Given the description of an element on the screen output the (x, y) to click on. 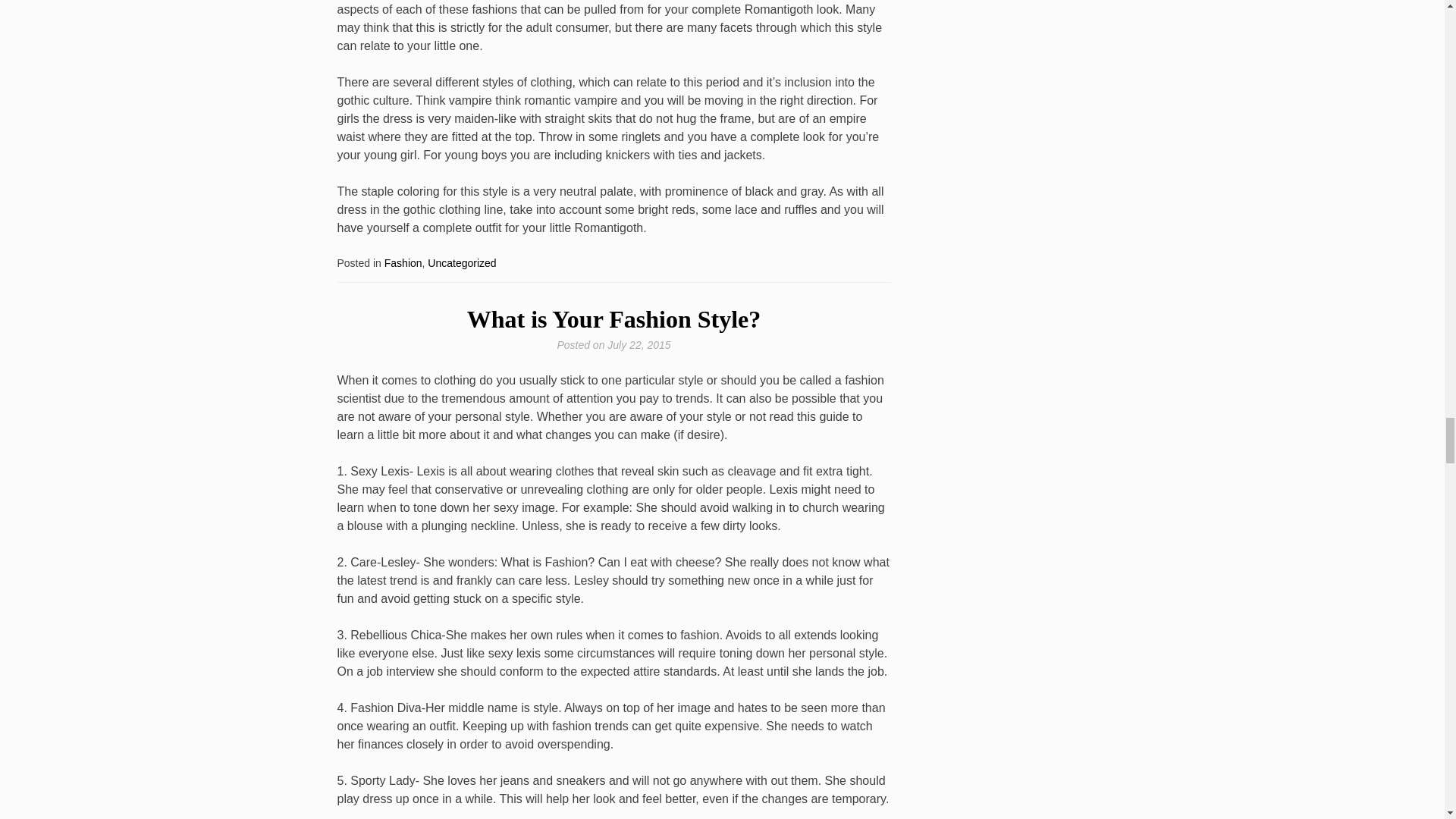
Fashion (403, 263)
What is Your Fashion Style? (614, 318)
July 22, 2015 (638, 345)
Uncategorized (462, 263)
